Given the description of an element on the screen output the (x, y) to click on. 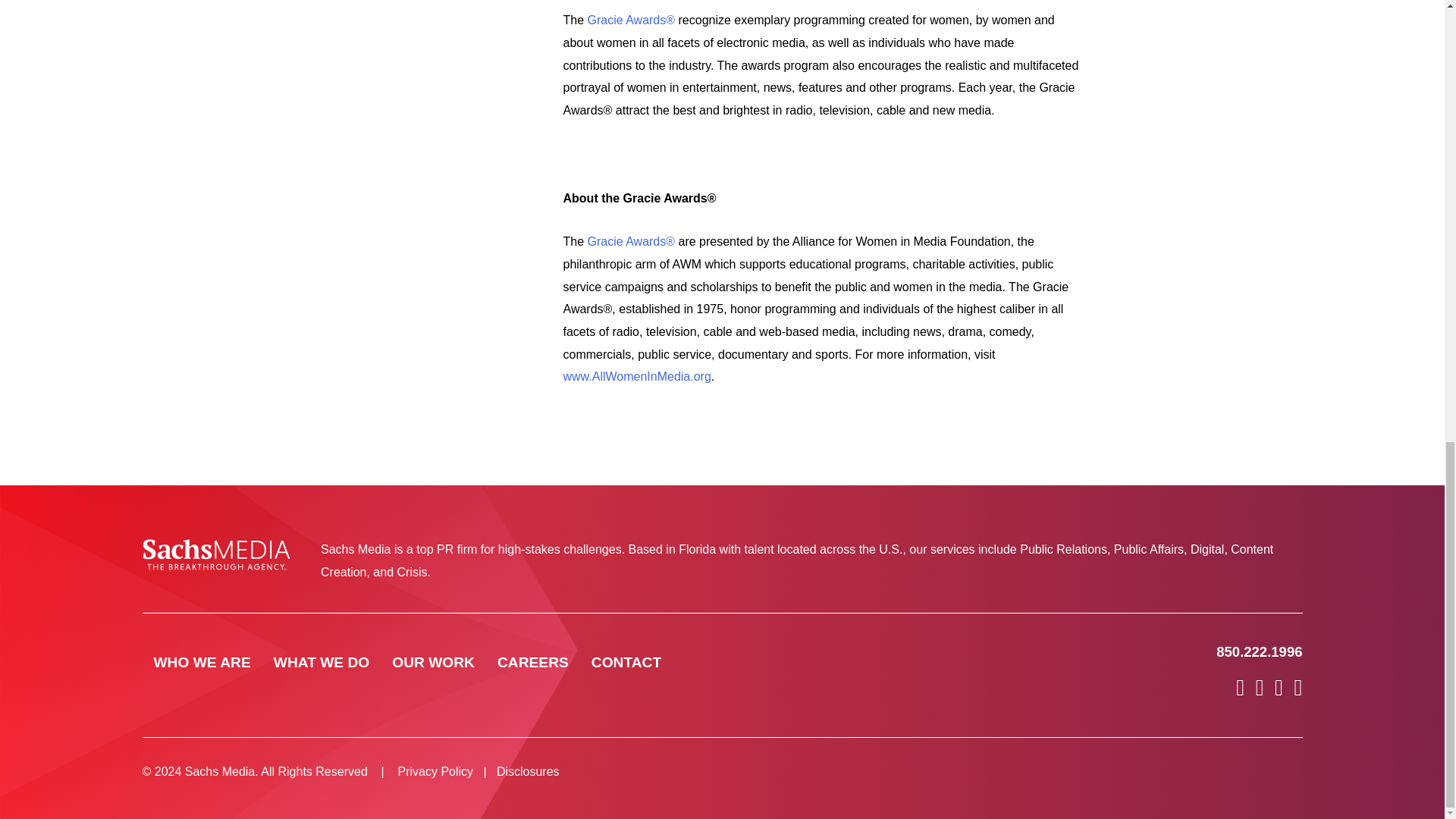
WHO WE ARE (201, 662)
CONTACT (625, 662)
CAREERS (532, 662)
www.AllWomenInMedia.org (636, 376)
850.222.1996 (1258, 651)
OUR WORK (432, 662)
WHAT WE DO (321, 662)
